Given the description of an element on the screen output the (x, y) to click on. 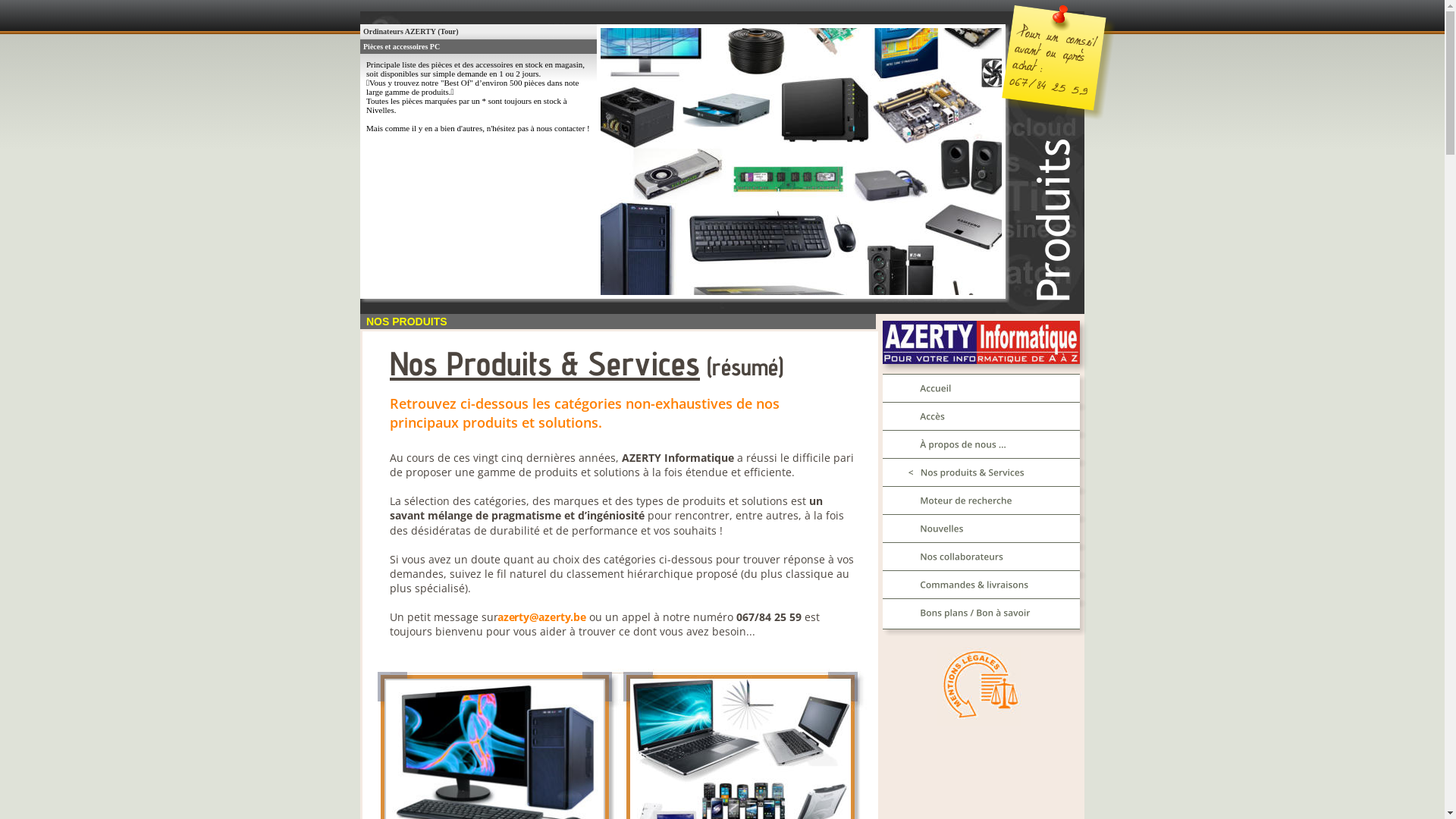
azerty@azerty.be Element type: text (541, 616)
  Element type: text (587, 616)
NOS PRODUITS Element type: text (406, 321)
Votre partenaire de confiance depuis 1994 Element type: hover (980, 342)
